Given the description of an element on the screen output the (x, y) to click on. 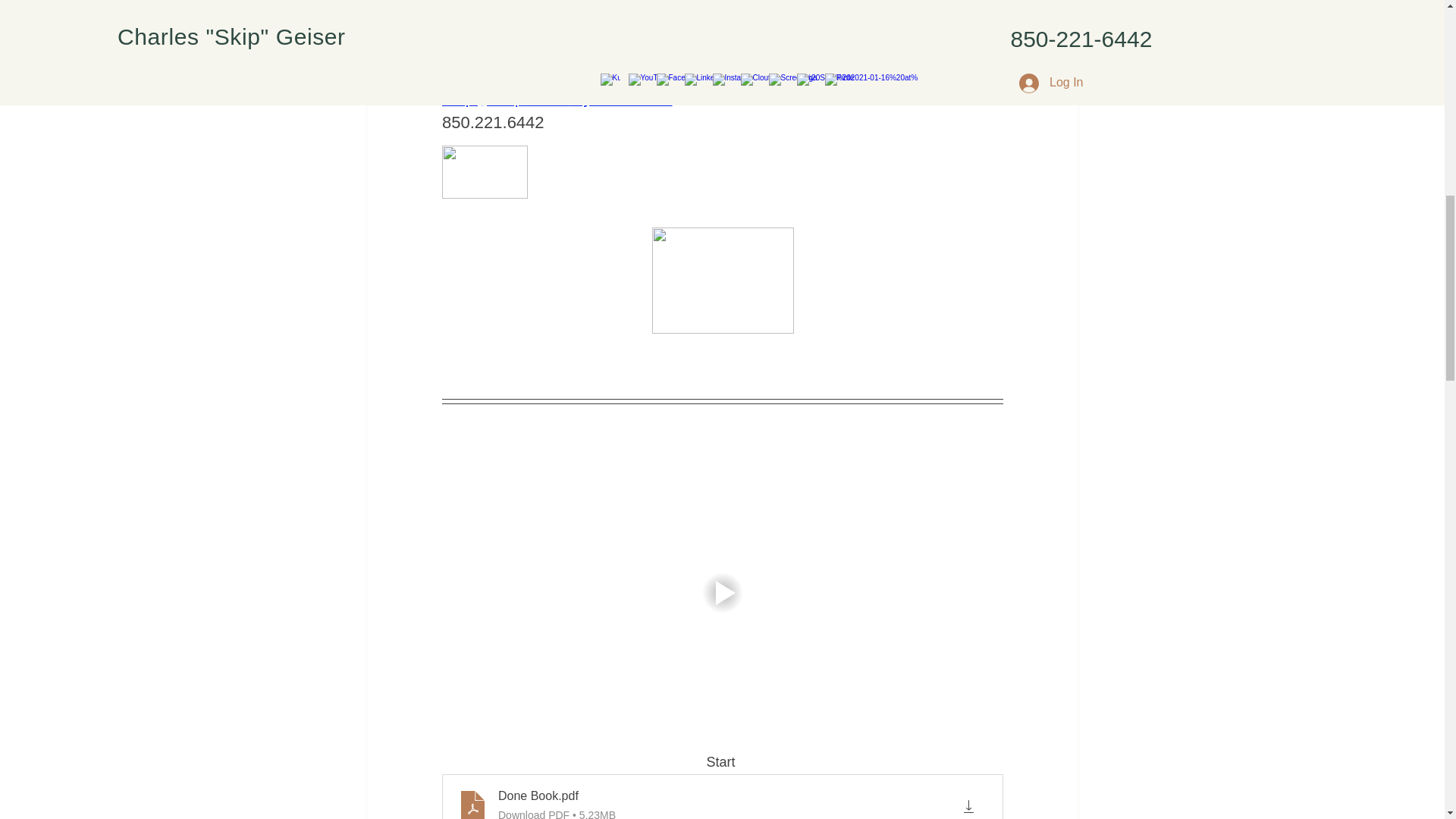
SOLD (545, 97)
SOLD (501, 46)
MyHome.com (575, 46)
Skip (462, 46)
MyHome.com (620, 97)
